Given the description of an element on the screen output the (x, y) to click on. 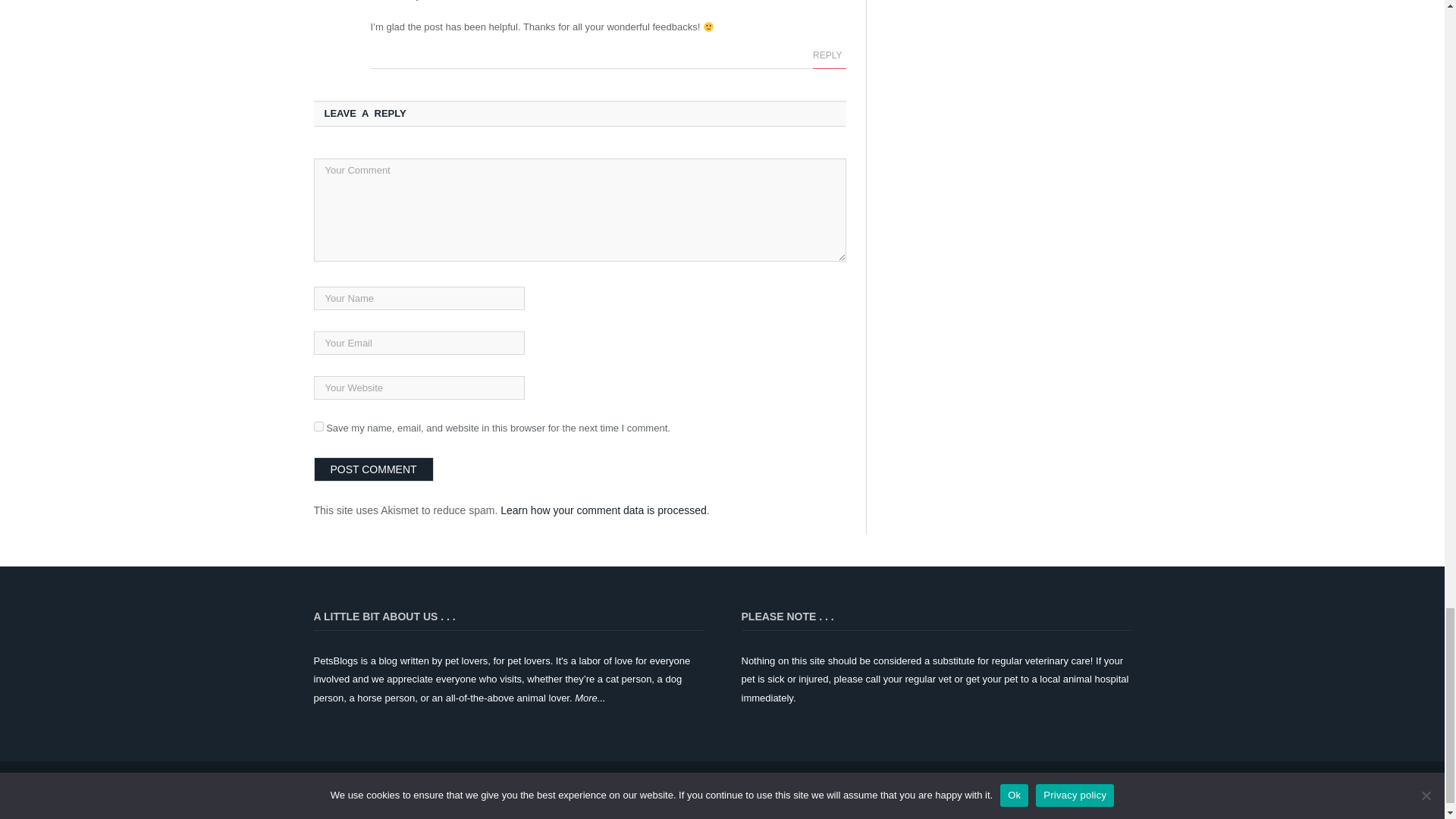
Post Comment (373, 469)
yes (318, 426)
